Given the description of an element on the screen output the (x, y) to click on. 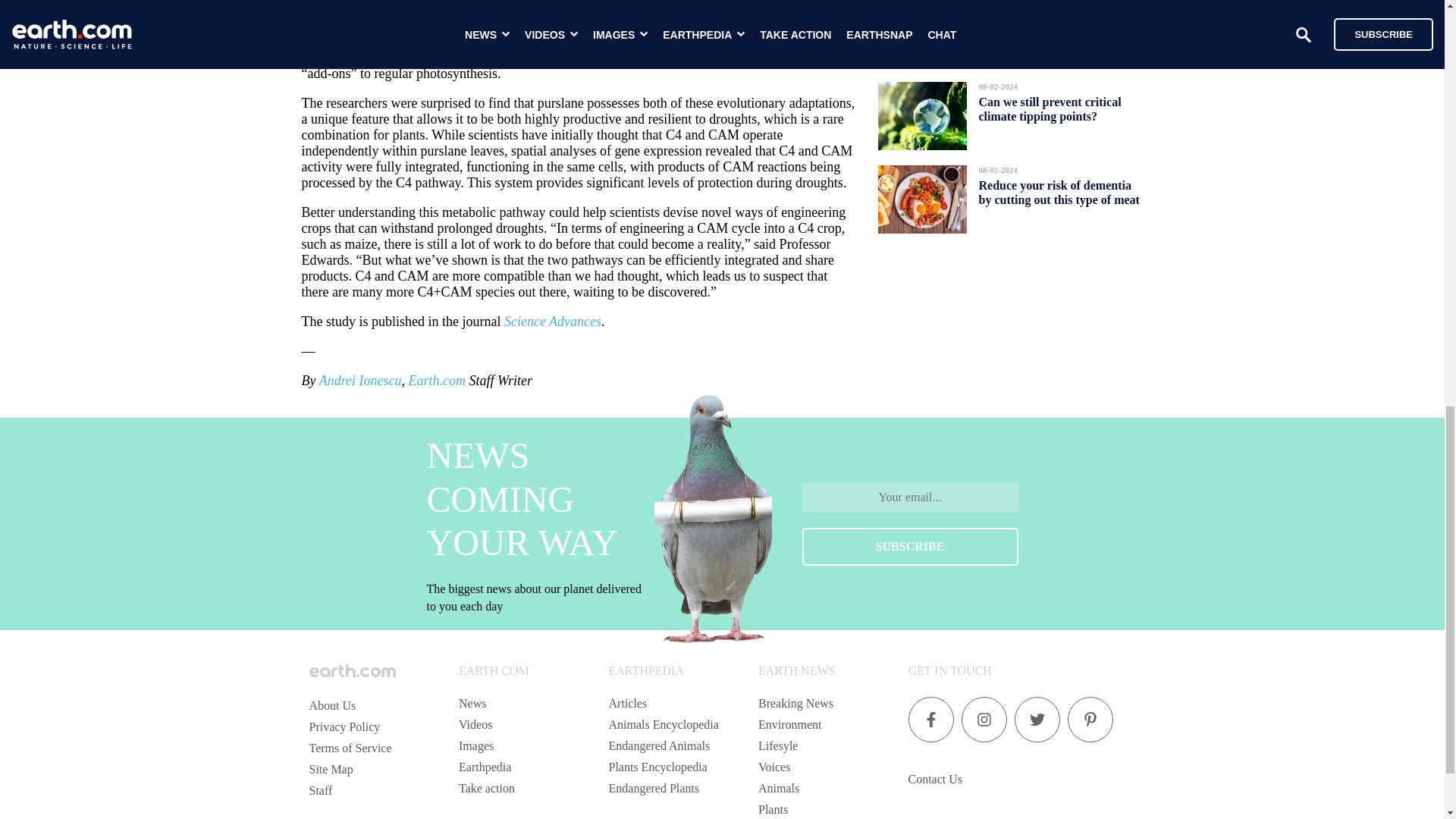
SUBSCRIBE (909, 546)
Andrei Ionescu (359, 380)
Science Advances (552, 321)
Earth.com (436, 380)
Can we still prevent critical climate tipping points? (1049, 108)
